Given the description of an element on the screen output the (x, y) to click on. 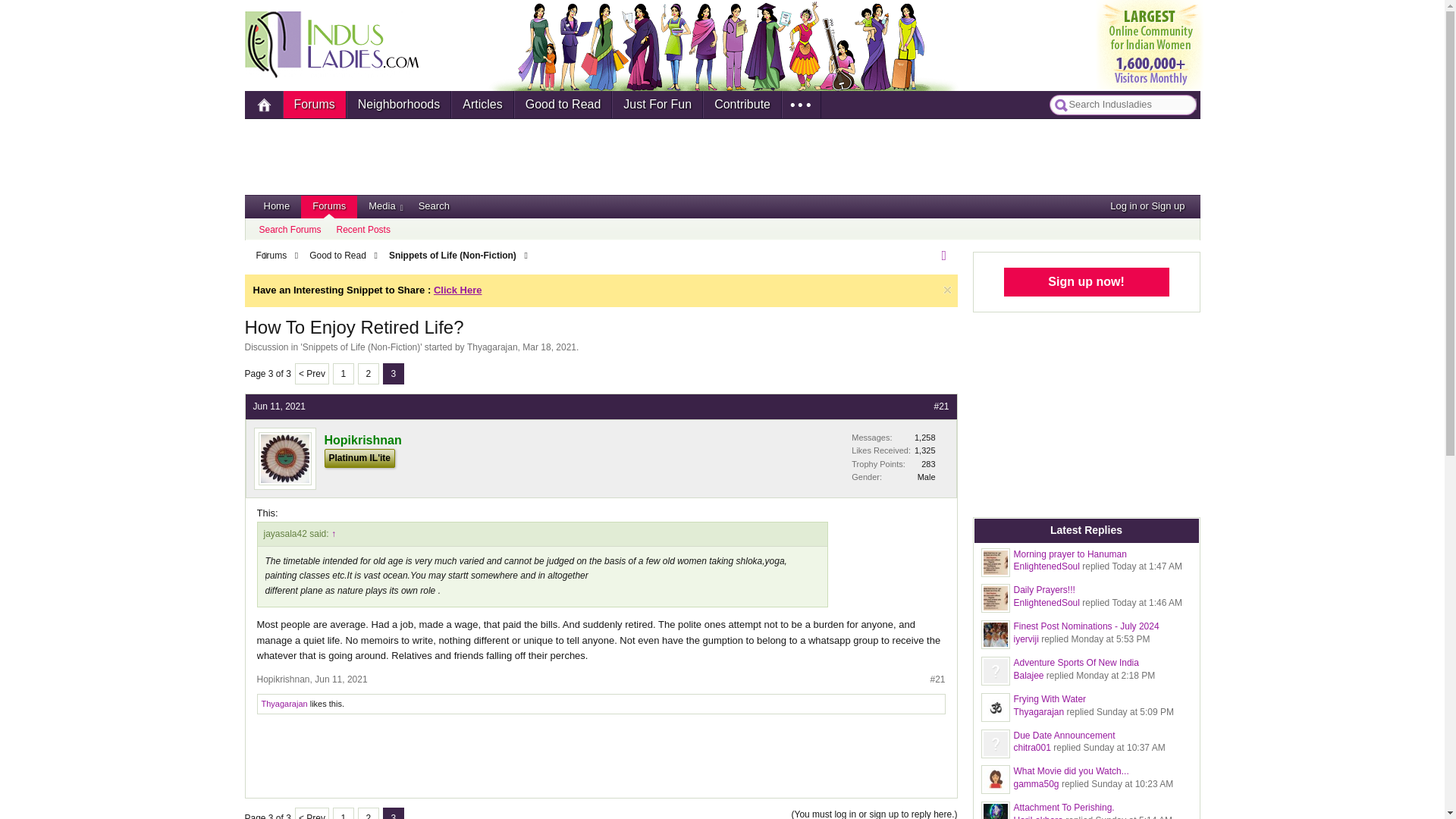
More (793, 103)
Mar 18, 2021 at 12:49 PM (549, 347)
Permalink (279, 406)
Jul 17, 2024 at 1:46 AM (1147, 602)
Permalink (941, 406)
Jul 17, 2024 at 1:47 AM (1147, 566)
Articles (481, 103)
Forums (314, 103)
Permalink (937, 679)
Open quick navigation (947, 255)
Neighborhoods (399, 103)
Good to Read (563, 103)
Enter your search and hit enter (1132, 103)
Jul 15, 2024 at 2:18 PM (1114, 675)
